Given the description of an element on the screen output the (x, y) to click on. 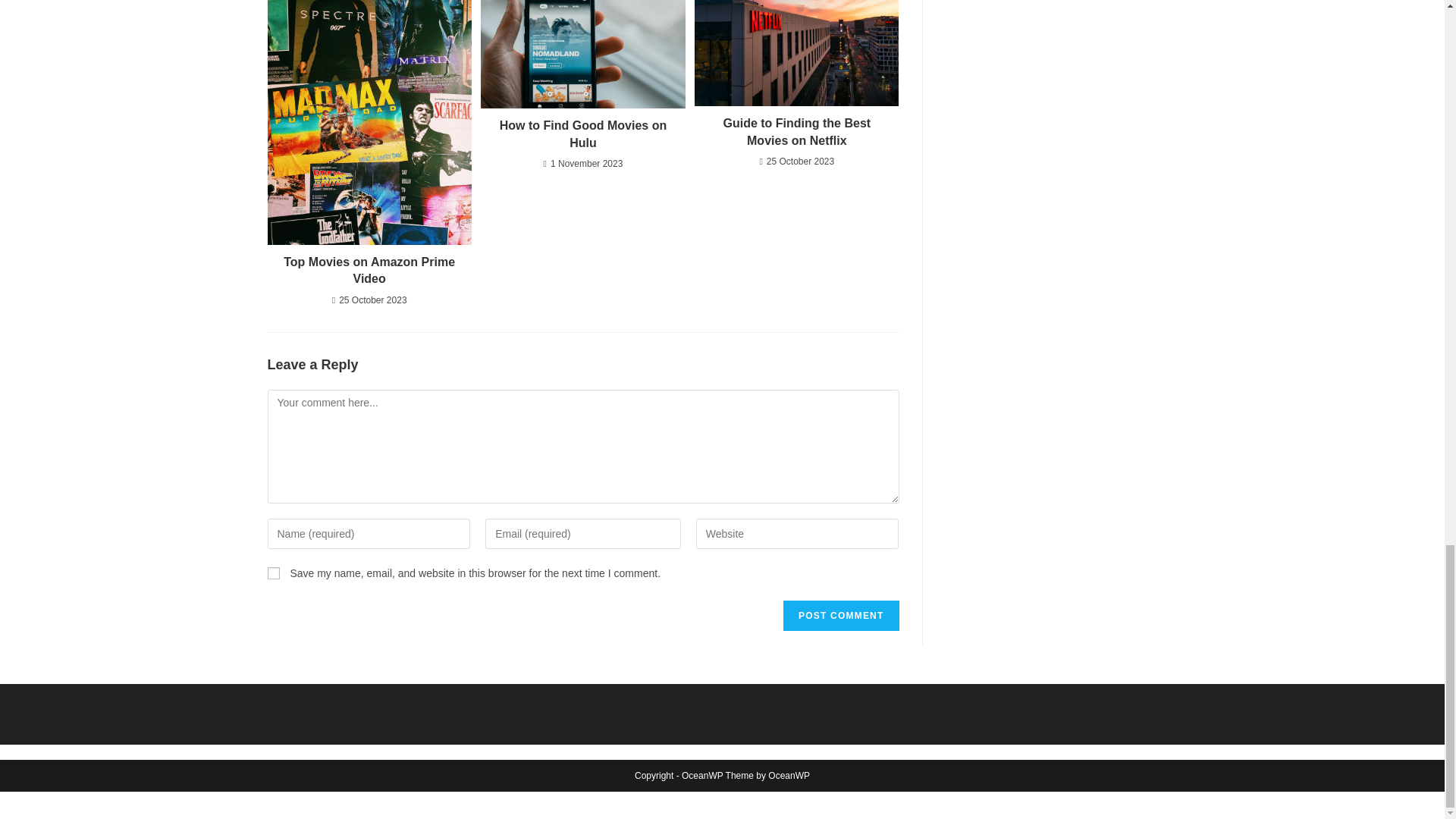
Post Comment (840, 615)
Guide to Finding the Best Movies on Netflix (796, 132)
Top Movies on Amazon Prime Video (368, 270)
Post Comment (840, 615)
yes (272, 573)
How to Find Good Movies on Hulu (582, 134)
